Given the description of an element on the screen output the (x, y) to click on. 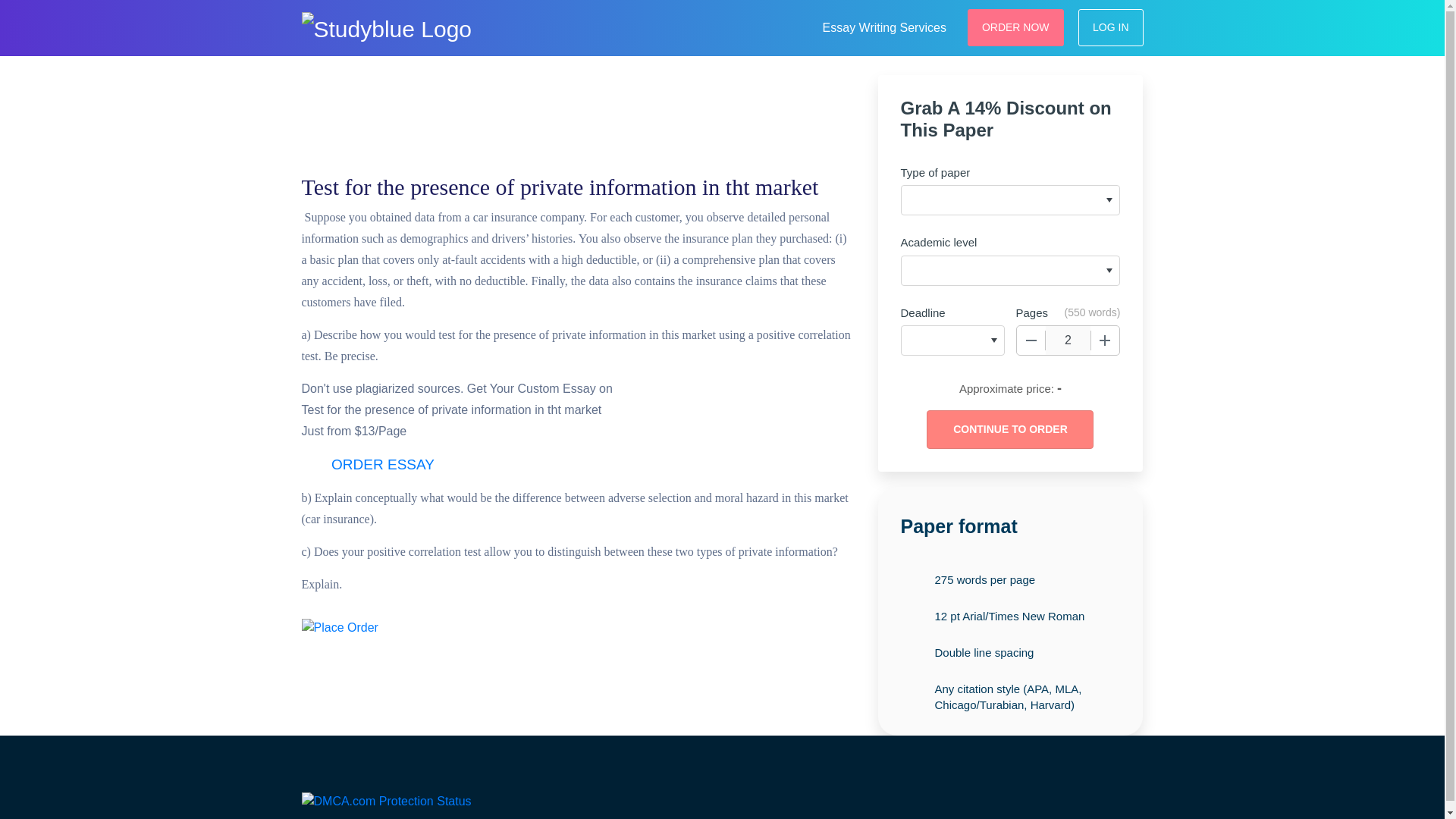
2 (1067, 339)
Increase (1104, 339)
Essay Writing Services (884, 25)
Continue to order (1009, 429)
DMCA.com Protection Status (386, 799)
ORDER NOW (1016, 27)
Essay Writing Services (884, 25)
Decrease (1030, 339)
Continue to order (1009, 429)
ORDER ESSAY (382, 465)
